Given the description of an element on the screen output the (x, y) to click on. 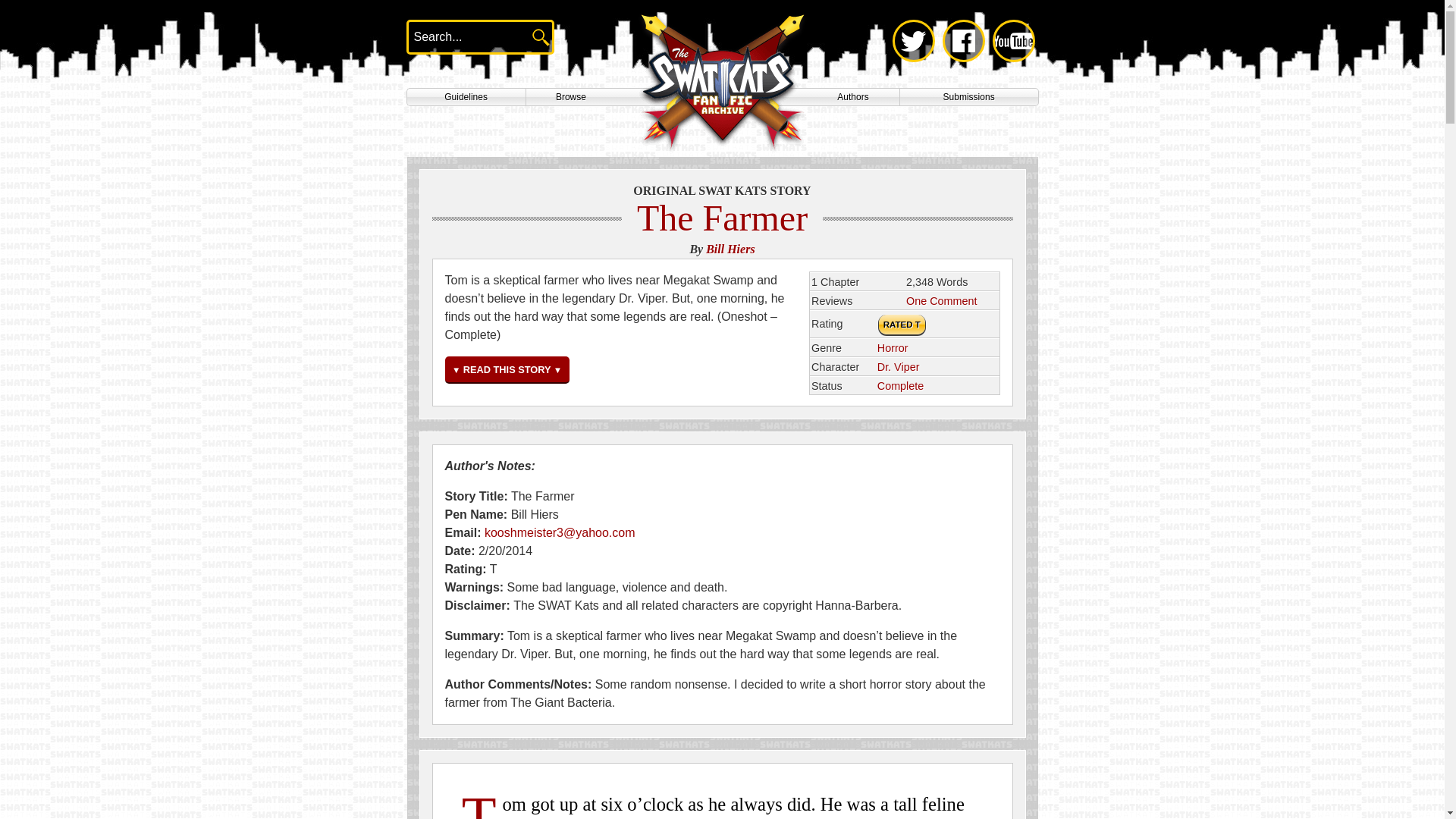
Twitter (912, 40)
Horror (892, 346)
The SWAT Kats Fan Fiction Archive (721, 83)
Facebook (963, 40)
Rated T (901, 324)
Browse (570, 96)
Submissions (969, 96)
Facebook (963, 40)
Twitter (912, 40)
Reviews (940, 300)
Search... (459, 37)
Browse (570, 96)
Dr. Viper (898, 367)
YouTube (1012, 40)
Guidelines (465, 96)
